Given the description of an element on the screen output the (x, y) to click on. 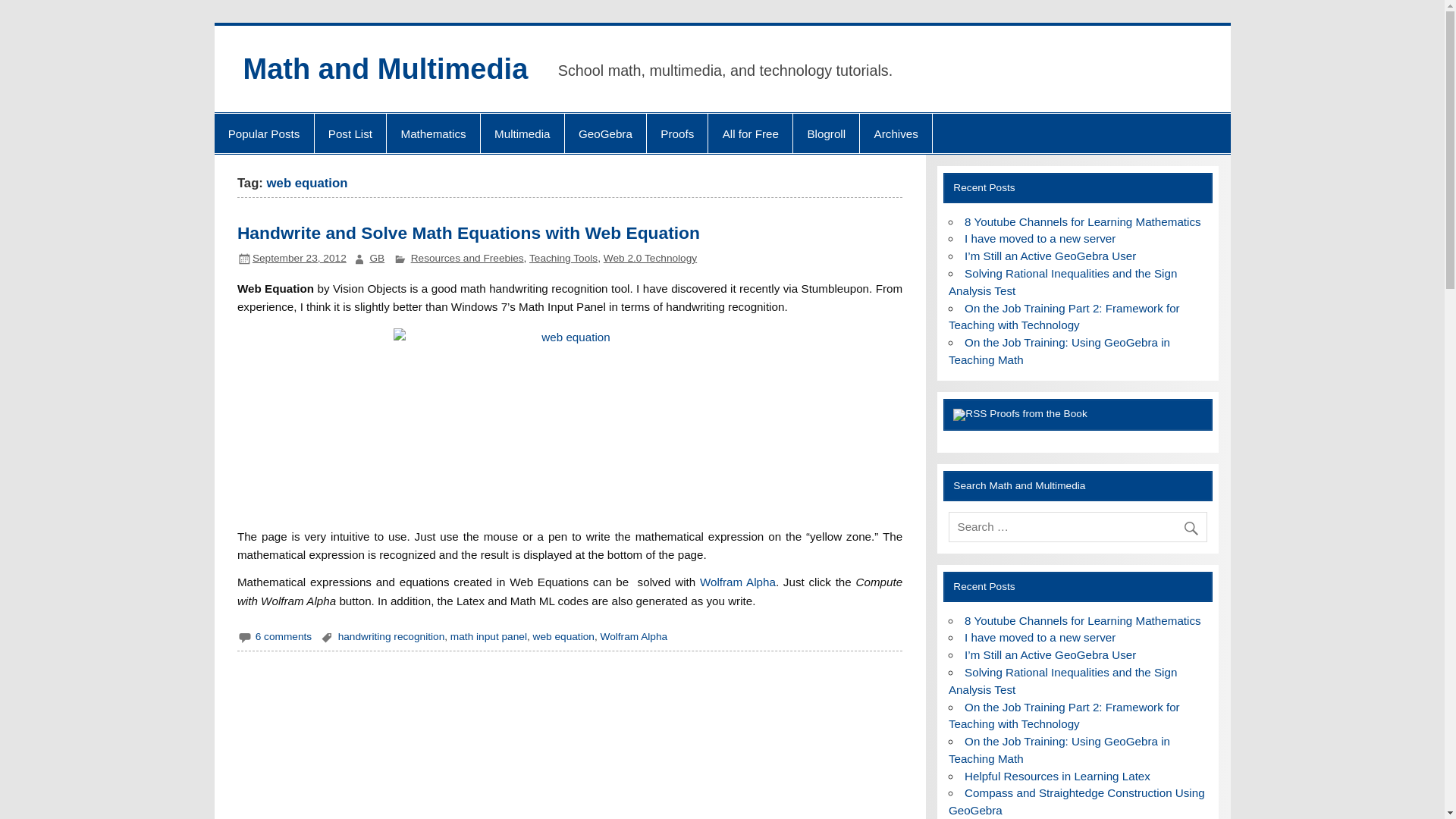
handwriting recognition (391, 636)
Multimedia (522, 133)
GeoGebra (605, 133)
September 23, 2012 (298, 257)
Popular Posts (263, 133)
Math and Multimedia (385, 69)
10:33 am (298, 257)
I have moved to a new server (1039, 237)
Handwrite and Solve Math Equations with Web Equation (468, 232)
Web 2.0 Technology (650, 257)
math input panel (488, 636)
Solving Rational Inequalities and the Sign Analysis Test (1063, 281)
Teaching Tools (562, 257)
Resources and Freebies (467, 257)
Solving Rational Inequalities and the Sign Analysis Test (1063, 680)
